Given the description of an element on the screen output the (x, y) to click on. 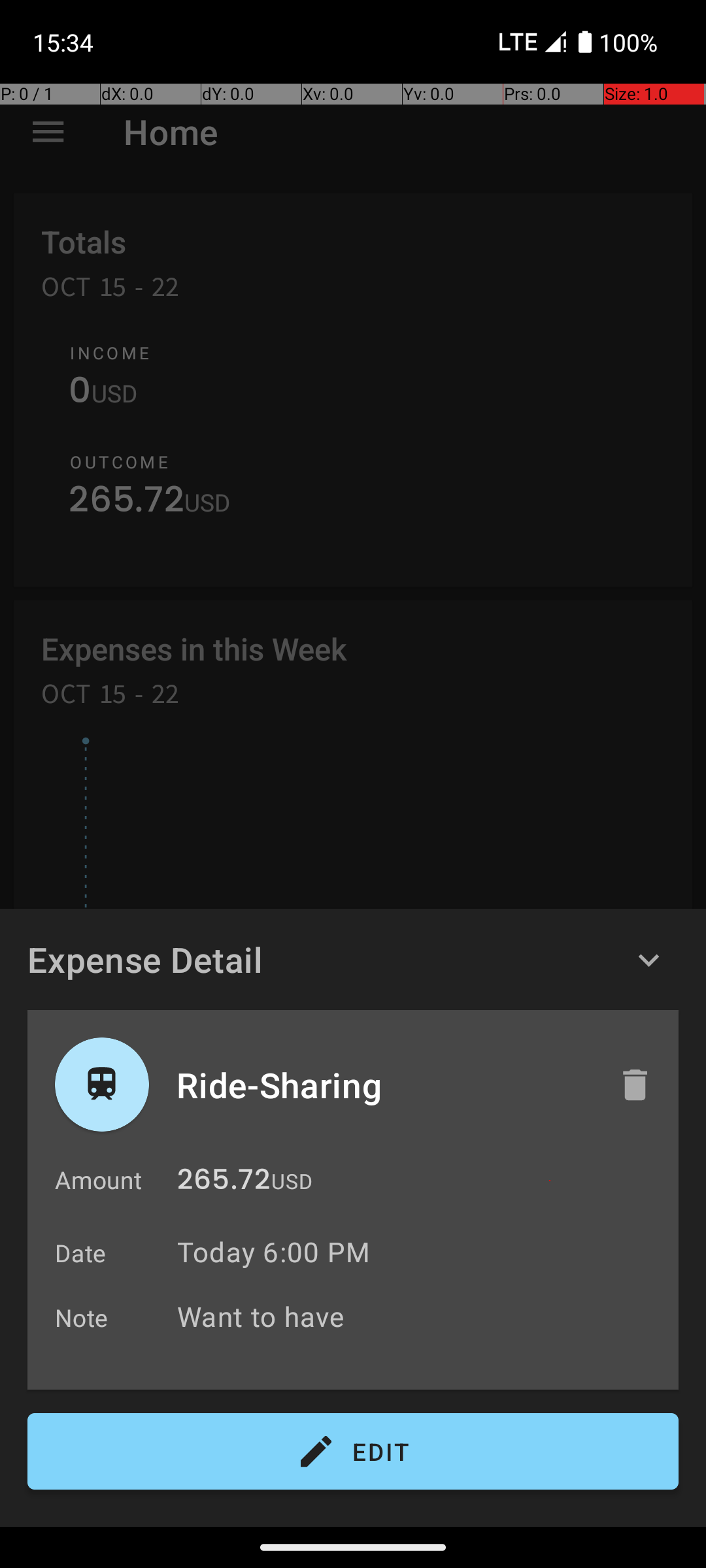
265.72 Element type: android.widget.TextView (223, 1182)
Today 6:00 PM Element type: android.widget.TextView (273, 1251)
